Given the description of an element on the screen output the (x, y) to click on. 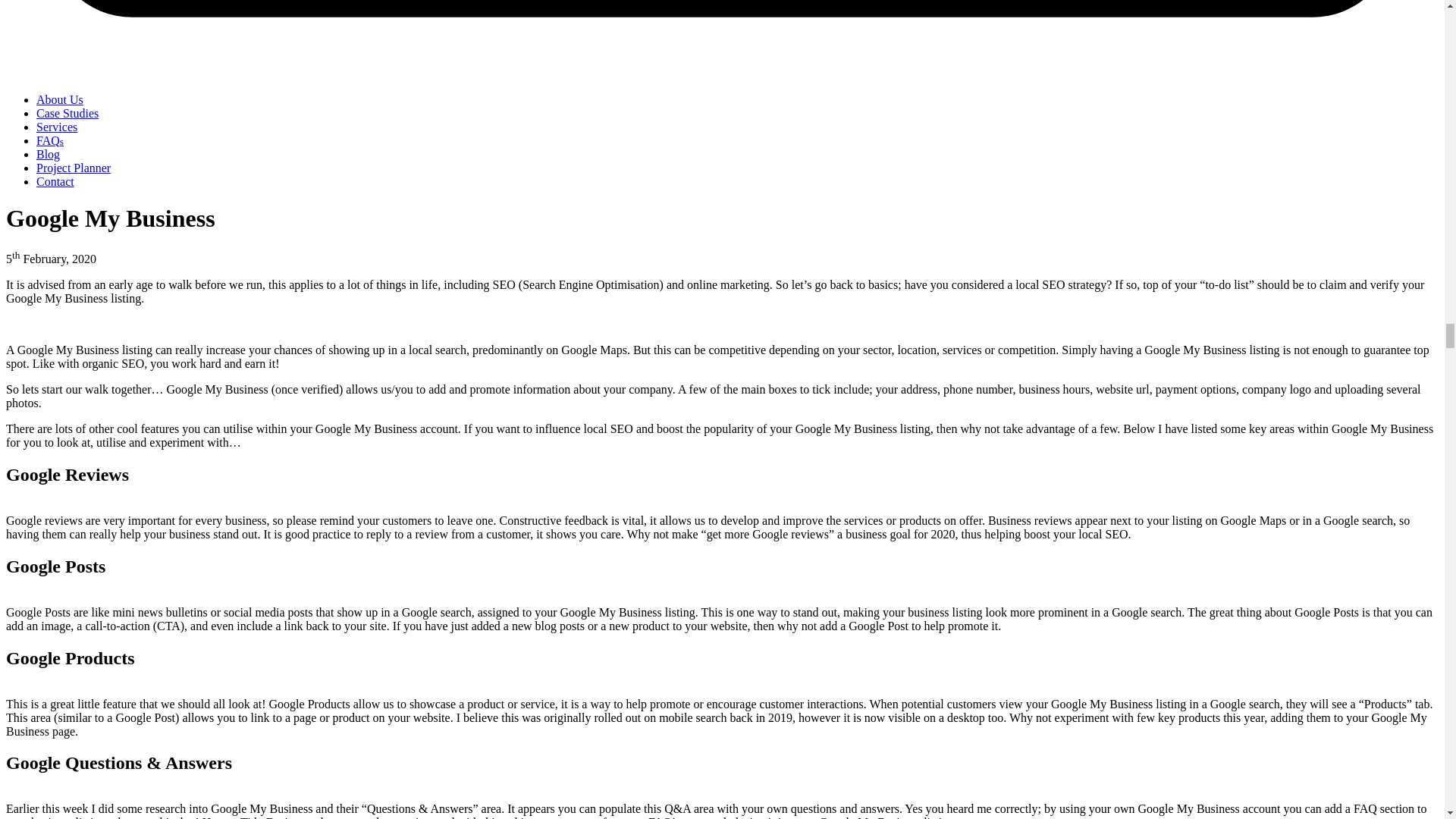
Case Studies (67, 113)
FAQs (50, 140)
Blog (47, 154)
Contact (55, 181)
Project Planner (73, 167)
About Us (59, 99)
Services (56, 126)
